Given the description of an element on the screen output the (x, y) to click on. 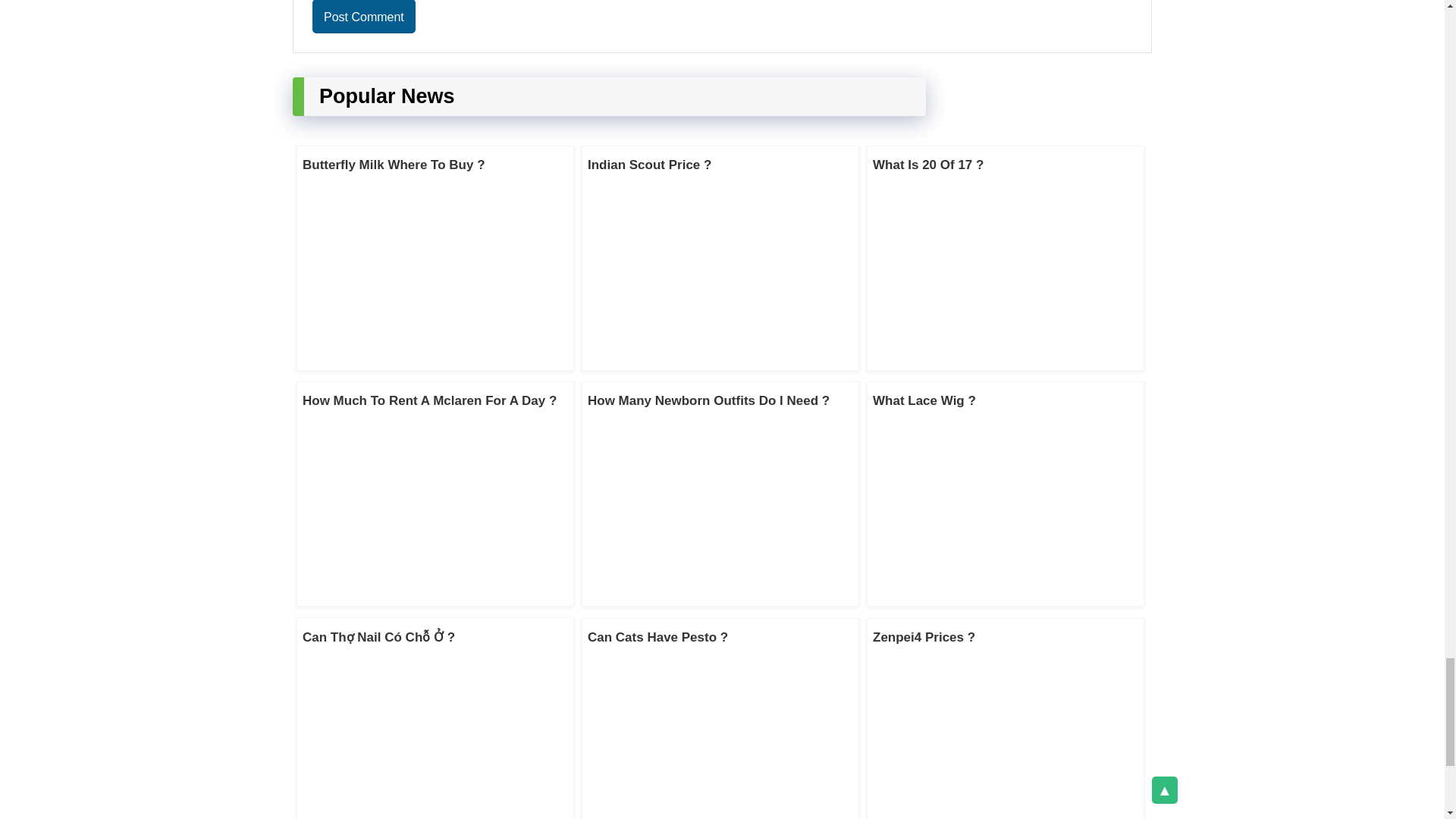
Butterfly Milk Where To Buy ? (393, 164)
How Much To Rent A Mclaren For A Day ? (429, 400)
Post Comment (363, 16)
Post Comment (363, 16)
How Many Newborn Outfits Do I Need ? (708, 400)
Can Cats Have Pesto ? (658, 636)
Indian Scout Price ? (649, 164)
